Given the description of an element on the screen output the (x, y) to click on. 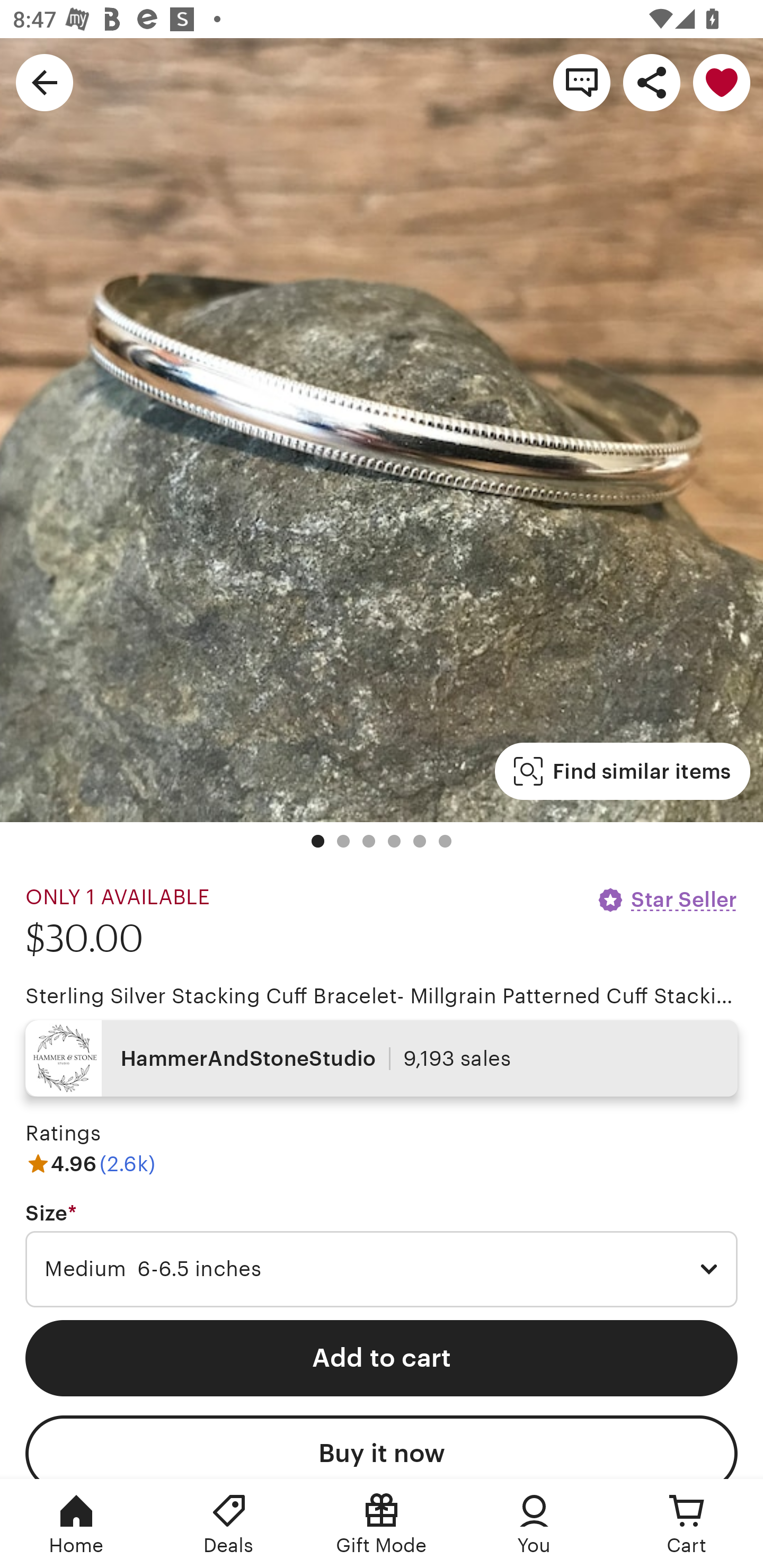
Navigate up (44, 81)
Contact shop (581, 81)
Share (651, 81)
Find similar items (622, 771)
Star Seller (666, 899)
HammerAndStoneStudio 9,193 sales (381, 1058)
Ratings (62, 1133)
4.96 (2.6k) (90, 1163)
Size * Required Medium  6-6.5 inches (381, 1254)
Medium  6-6.5 inches (381, 1268)
Add to cart (381, 1358)
Buy it now (381, 1446)
Deals (228, 1523)
Gift Mode (381, 1523)
You (533, 1523)
Cart (686, 1523)
